Given the description of an element on the screen output the (x, y) to click on. 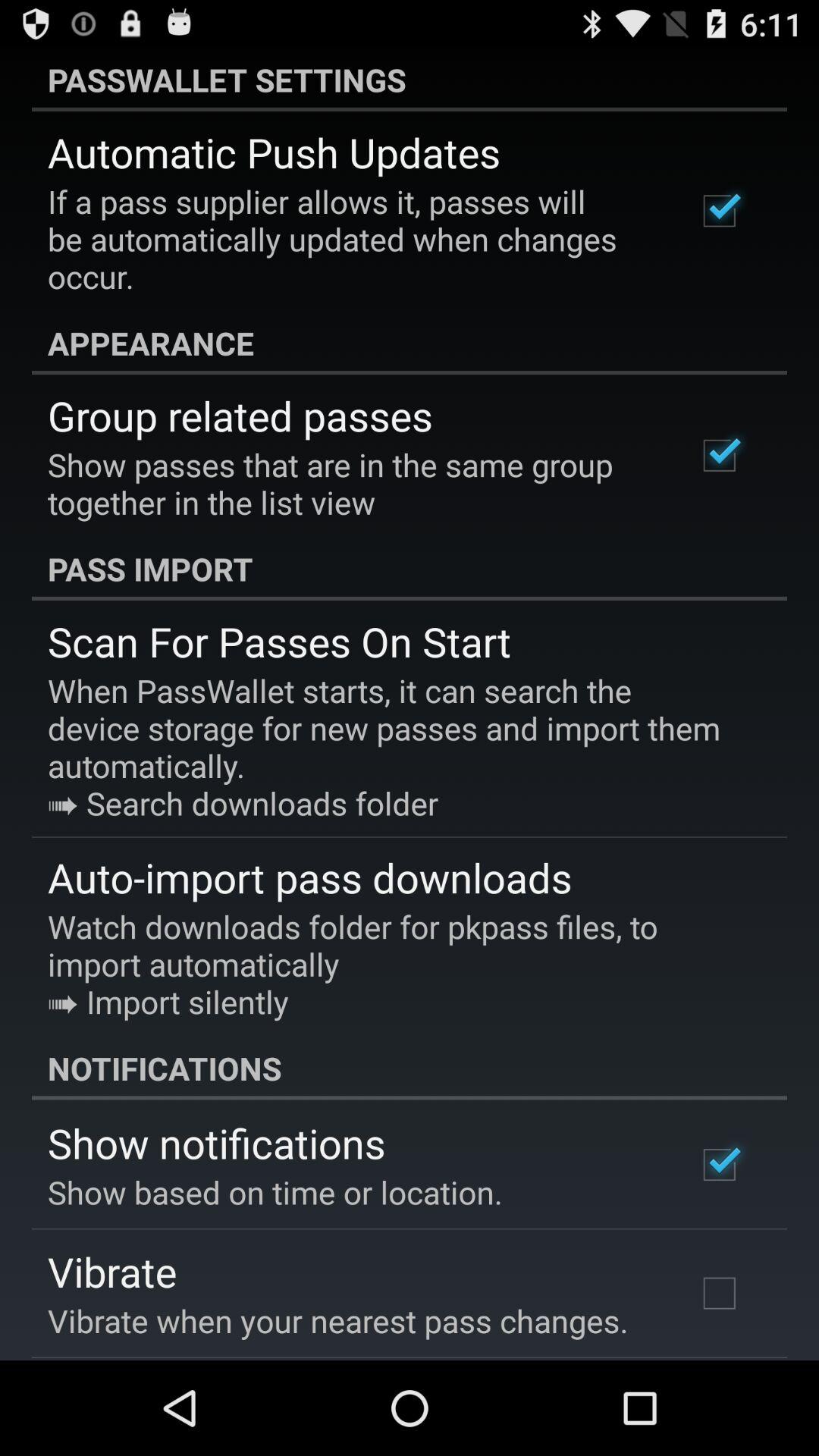
click icon below the vibrate app (337, 1320)
